Given the description of an element on the screen output the (x, y) to click on. 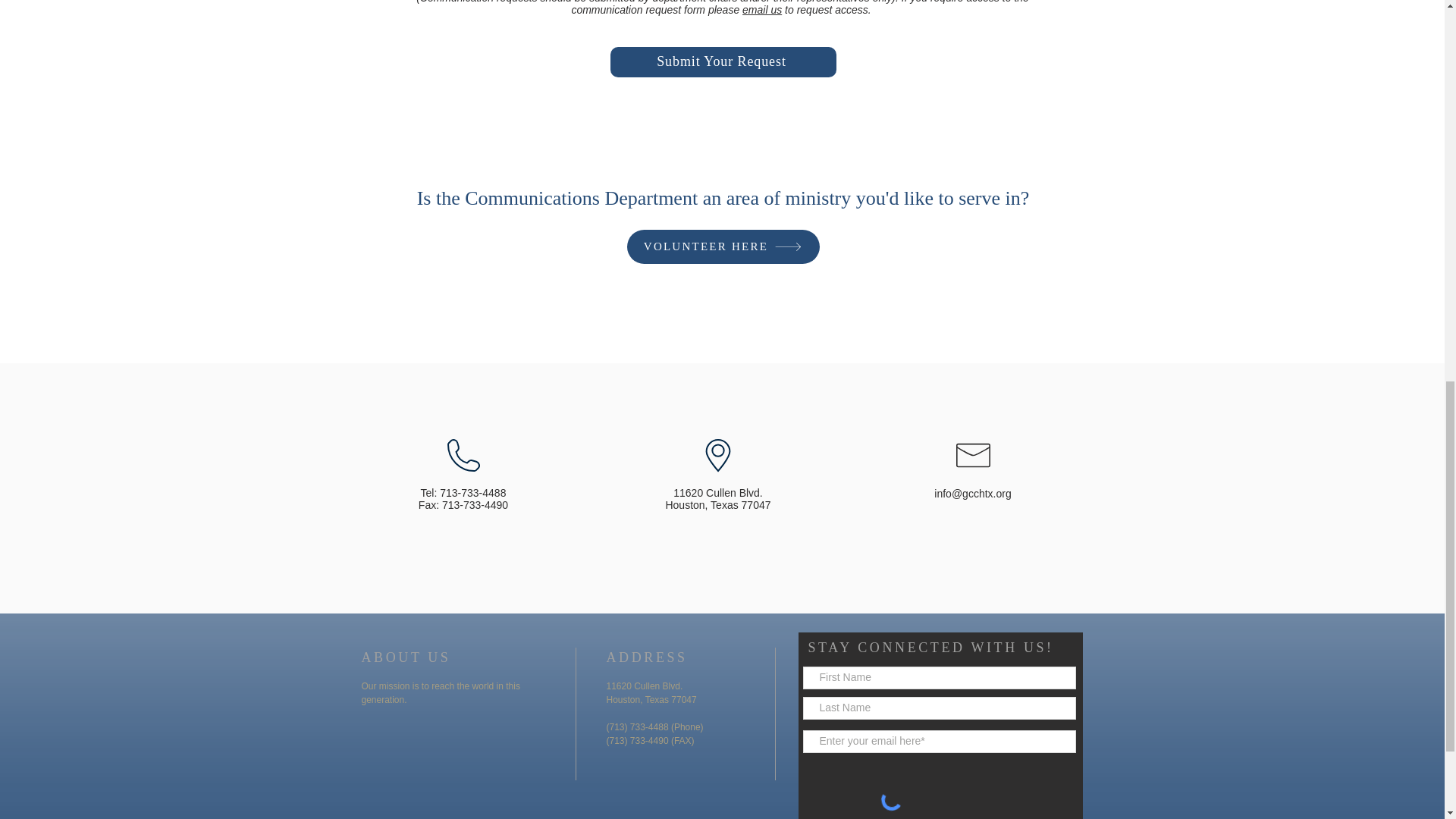
Submit Your Request (722, 61)
email us (761, 9)
VOLUNTEER HERE (722, 246)
